Given the description of an element on the screen output the (x, y) to click on. 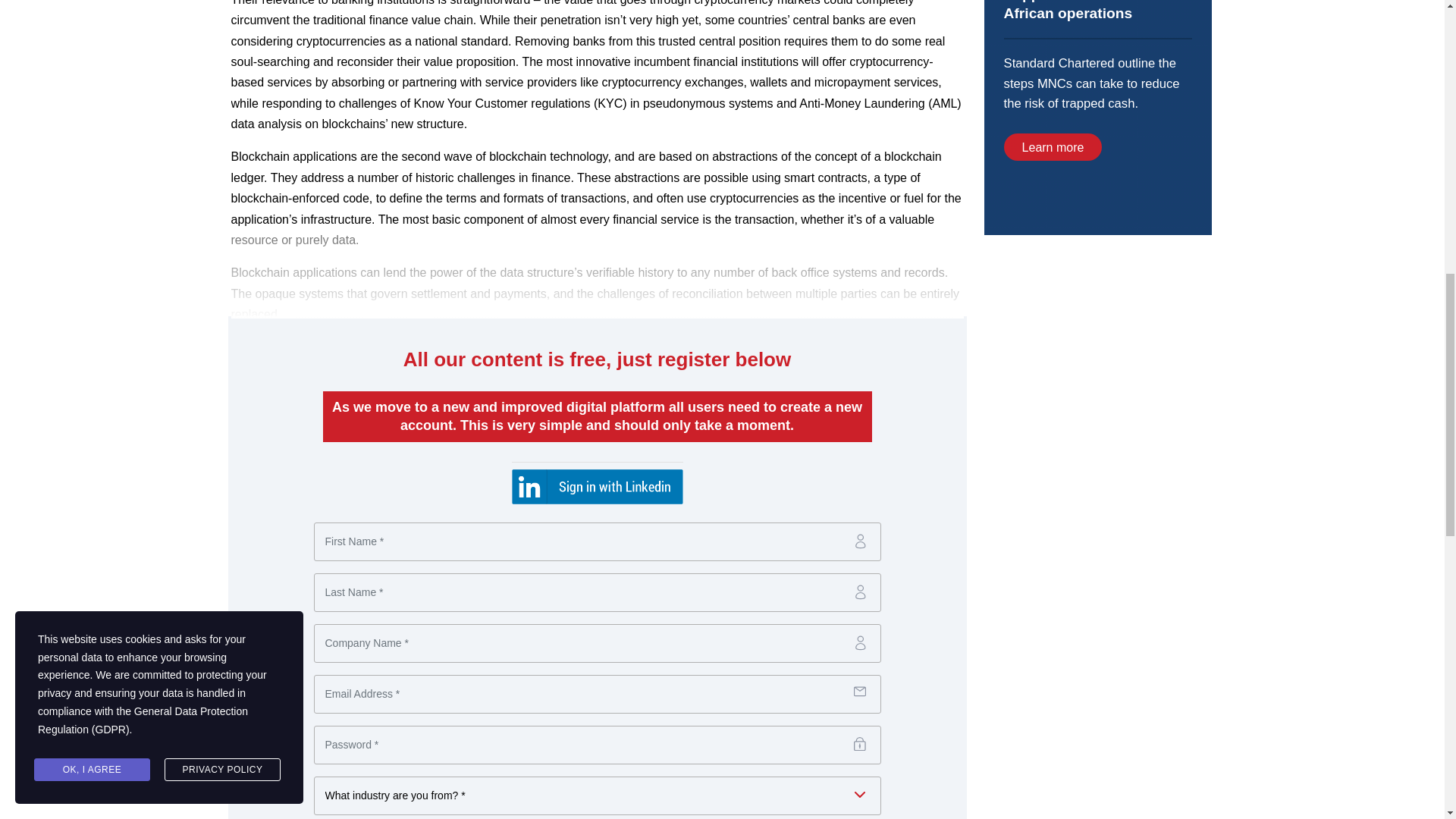
3rd party ad content (1097, 117)
3rd party ad content (1097, 362)
